Given the description of an element on the screen output the (x, y) to click on. 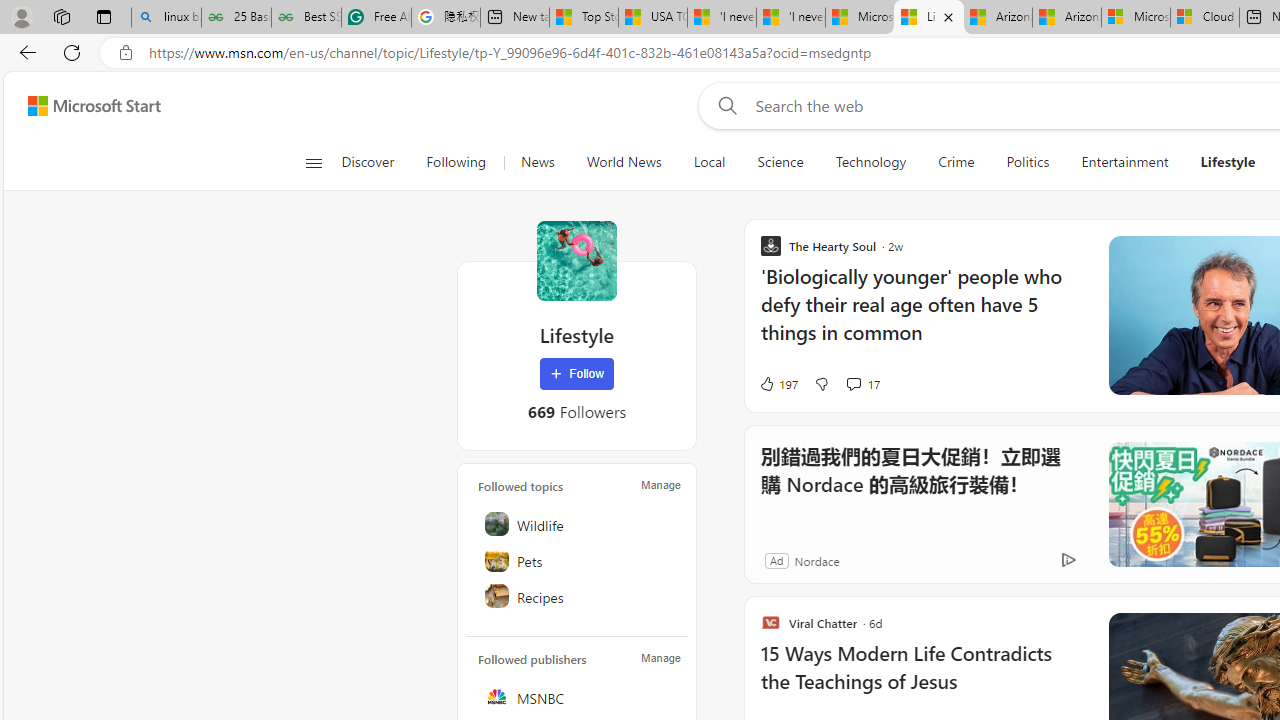
View site information (125, 53)
Technology (870, 162)
Nordace (816, 560)
Following (456, 162)
Open navigation menu (313, 162)
Science (779, 162)
World News (623, 162)
Local (708, 162)
Web search (724, 105)
Refresh (72, 52)
linux basic - Search (165, 17)
Microsoft Services Agreement (1135, 17)
Skip to content (86, 105)
